Given the description of an element on the screen output the (x, y) to click on. 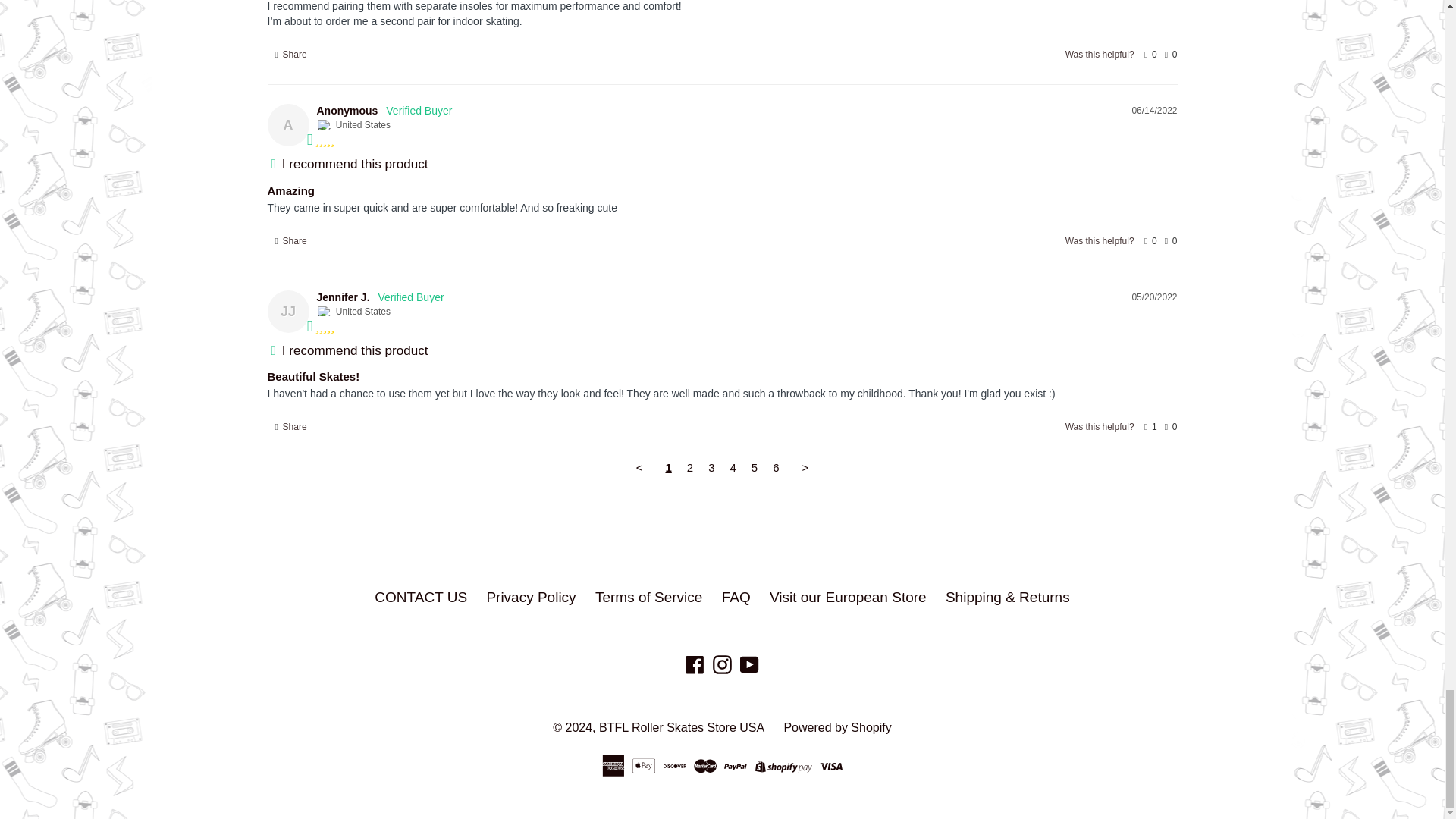
BTFL Roller Skates Store USA on YouTube (749, 663)
BTFL Roller Skates Store USA on Instagram (721, 663)
BTFL Roller Skates Store USA on Facebook (694, 663)
